Given the description of an element on the screen output the (x, y) to click on. 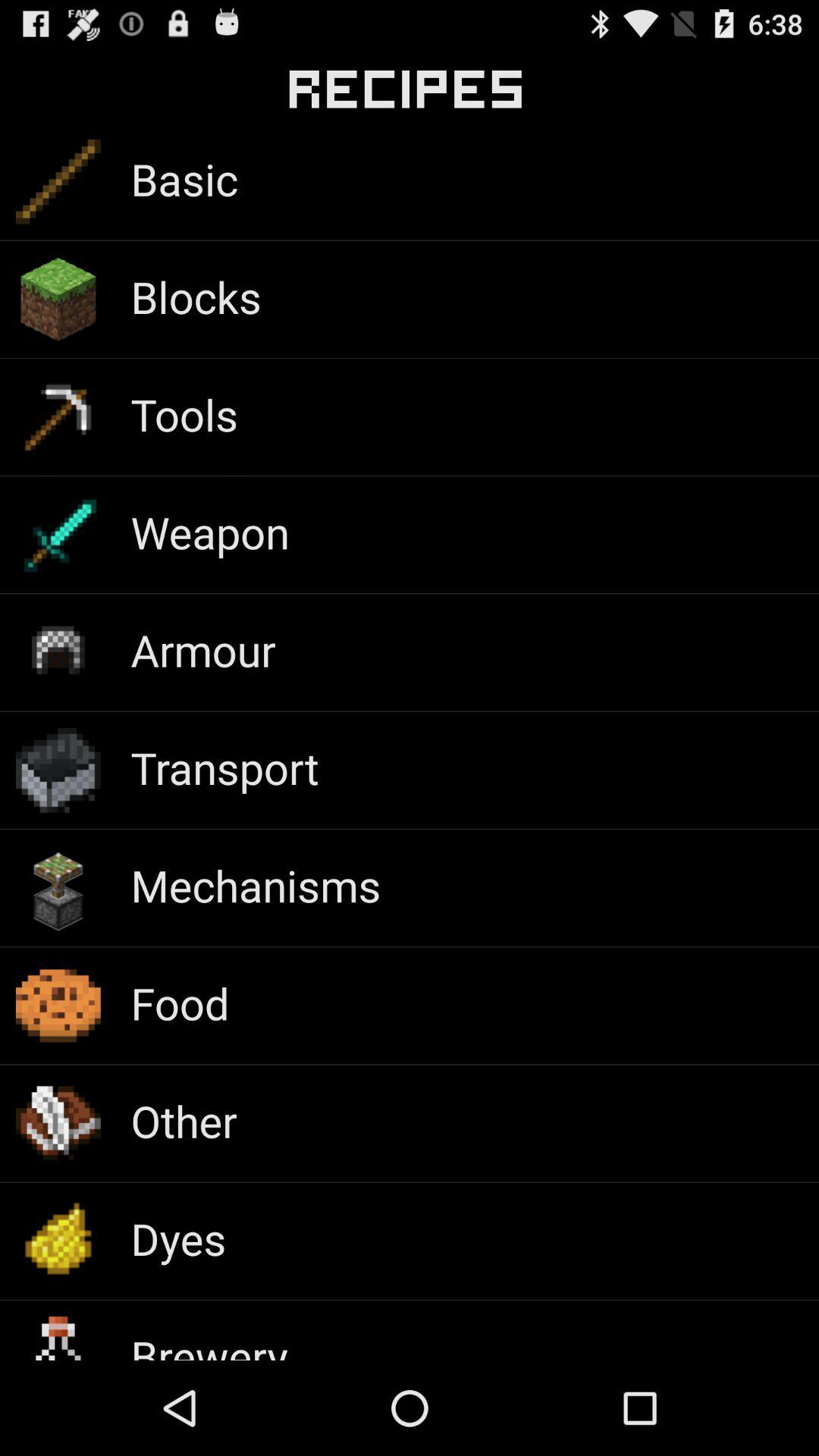
tap the app below mechanisms icon (179, 1002)
